Given the description of an element on the screen output the (x, y) to click on. 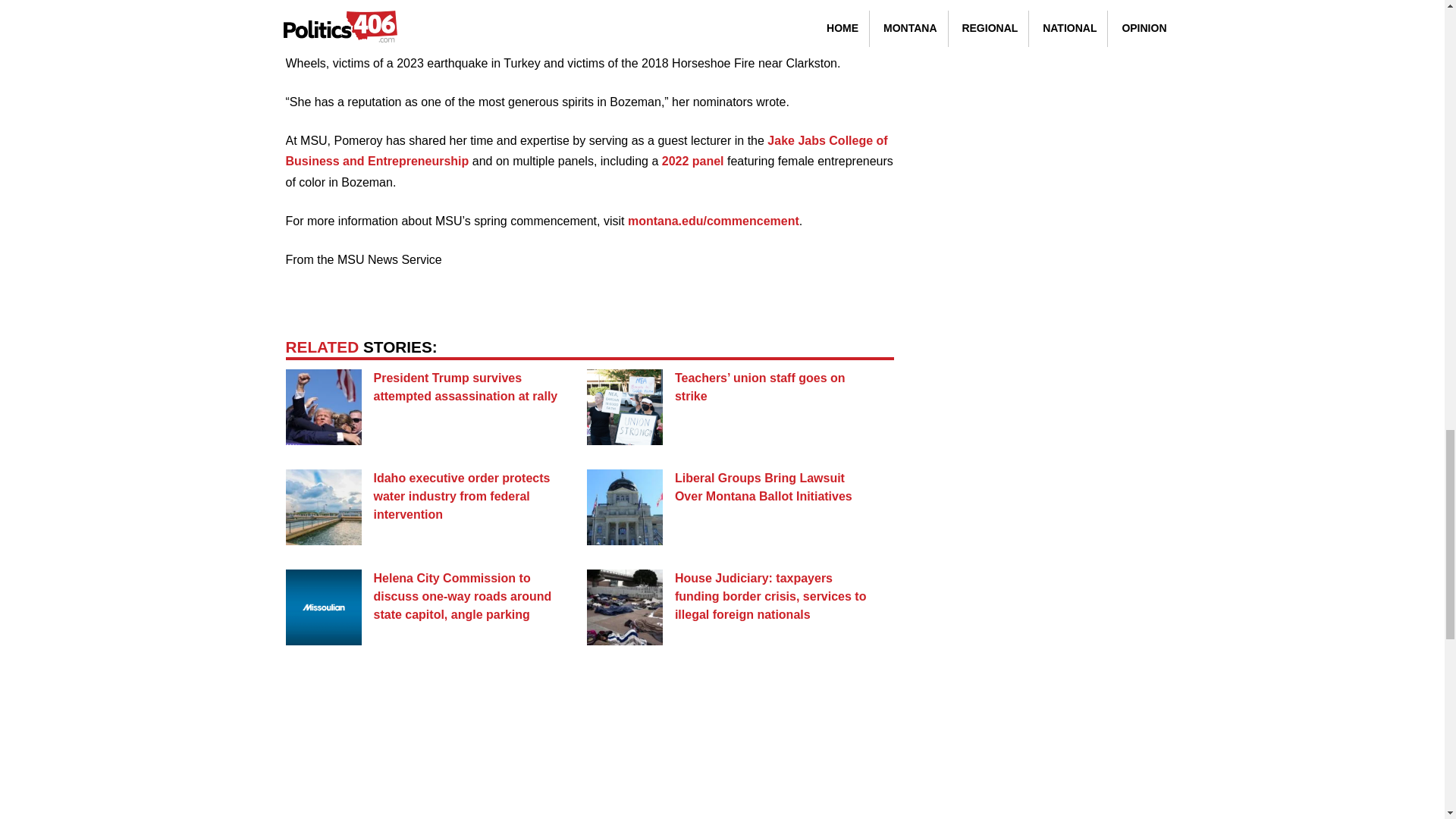
Liberal Groups Bring Lawsuit Over Montana Ballot Initiatives (763, 486)
President Trump survives attempted assassination at rally (464, 386)
President Trump survives attempted assassination at rally (464, 386)
Jake Jabs College of Business and Entrepreneurship (585, 150)
Liberal Groups Bring Lawsuit Over Montana Ballot Initiatives (763, 486)
2022 panel (692, 160)
